Given the description of an element on the screen output the (x, y) to click on. 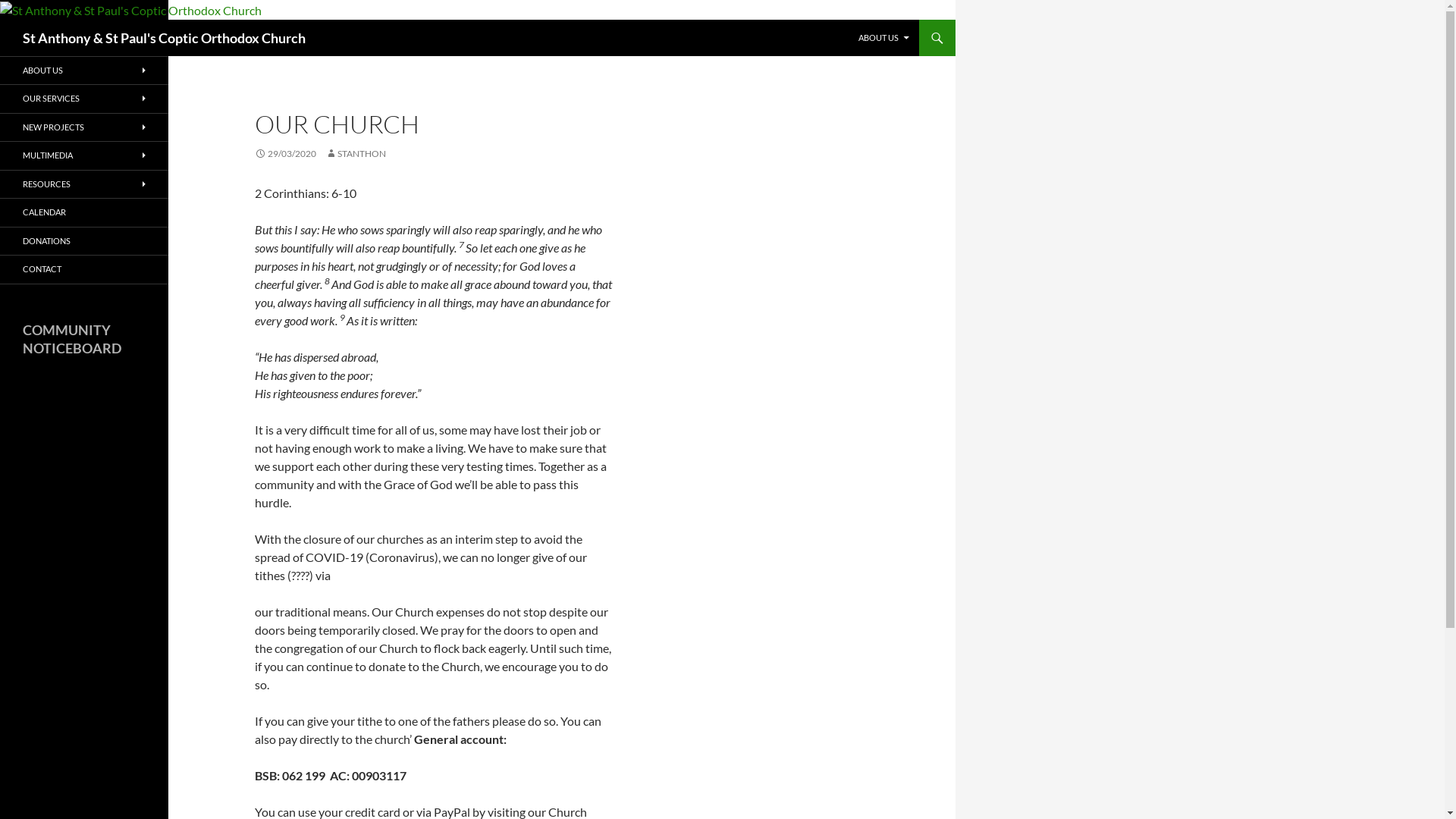
MULTIMEDIA Element type: text (84, 155)
RESOURCES Element type: text (84, 184)
DONATIONS Element type: text (84, 241)
ABOUT US Element type: text (84, 70)
NEW PROJECTS Element type: text (84, 127)
OUR SERVICES Element type: text (84, 98)
29/03/2020 Element type: text (285, 153)
ABOUT US Element type: text (883, 37)
CALENDAR Element type: text (84, 212)
STANTHON Element type: text (355, 153)
CONTACT Element type: text (84, 269)
St Anthony & St Paul's Coptic Orthodox Church Element type: text (163, 37)
